Given the description of an element on the screen output the (x, y) to click on. 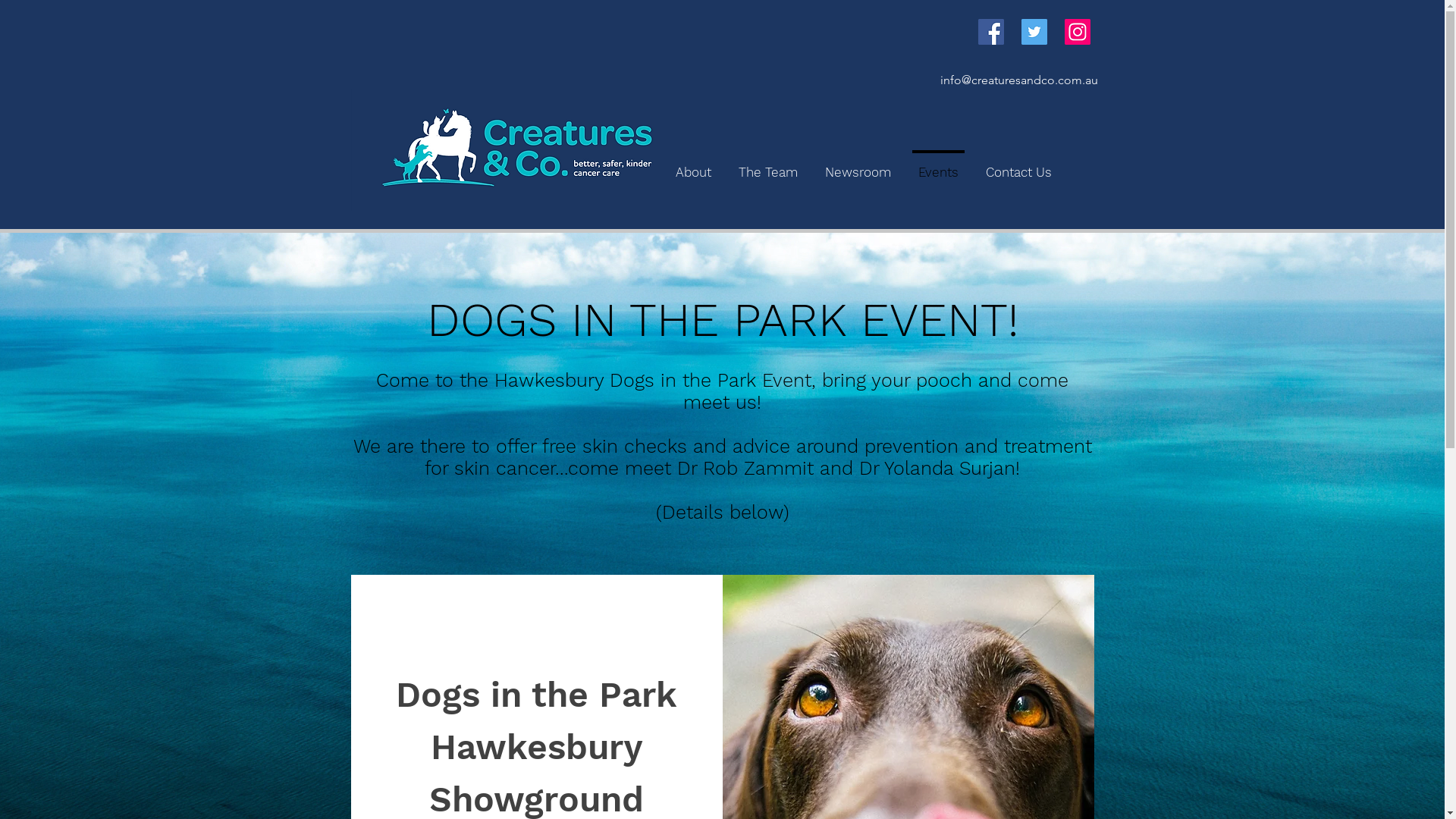
info@creaturesandco.com.au Element type: text (1019, 80)
Events Element type: text (937, 165)
Newsroom Element type: text (857, 165)
Contact Us Element type: text (1018, 165)
About Element type: text (692, 165)
The Team Element type: text (767, 165)
